Given the description of an element on the screen output the (x, y) to click on. 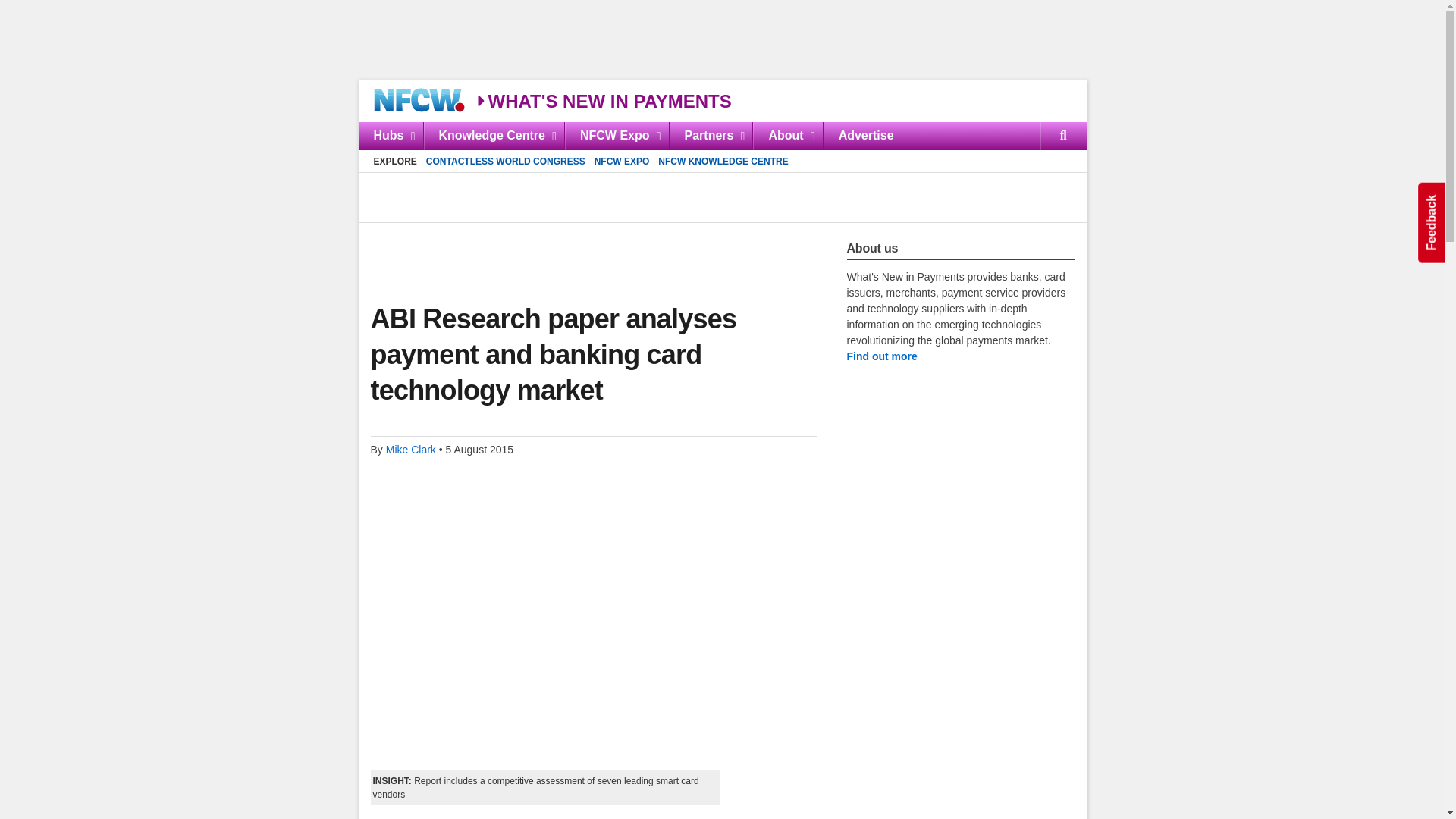
5 August 2015, 13:25 BST (479, 449)
NFCW Expo (616, 135)
WHAT'S NEW IN PAYMENTS (722, 135)
7 June 2022, 14:16 BST (603, 100)
Partners (581, 250)
Knowledge Centre (710, 135)
